Given the description of an element on the screen output the (x, y) to click on. 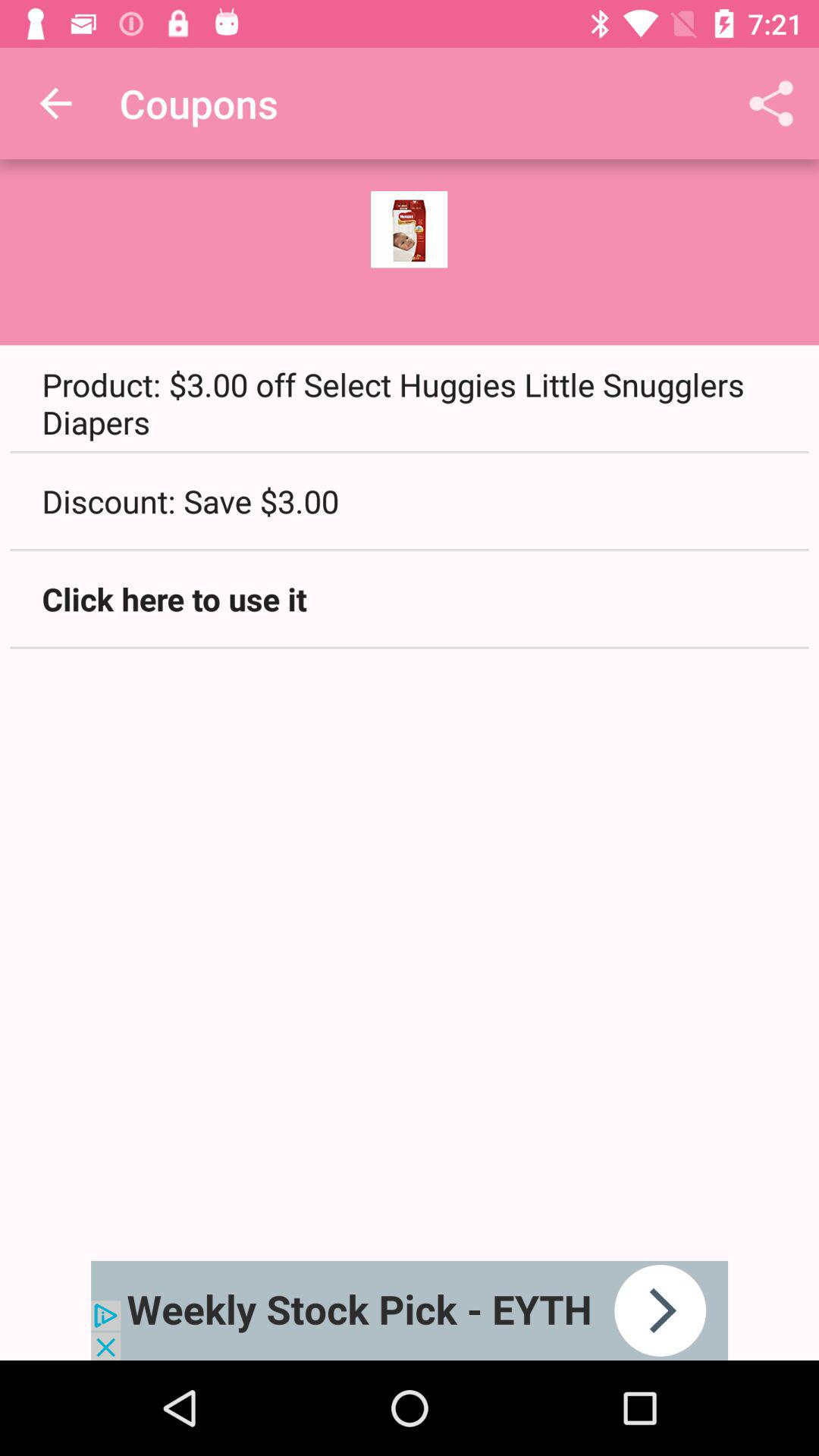
open advertisement (409, 1310)
